Given the description of an element on the screen output the (x, y) to click on. 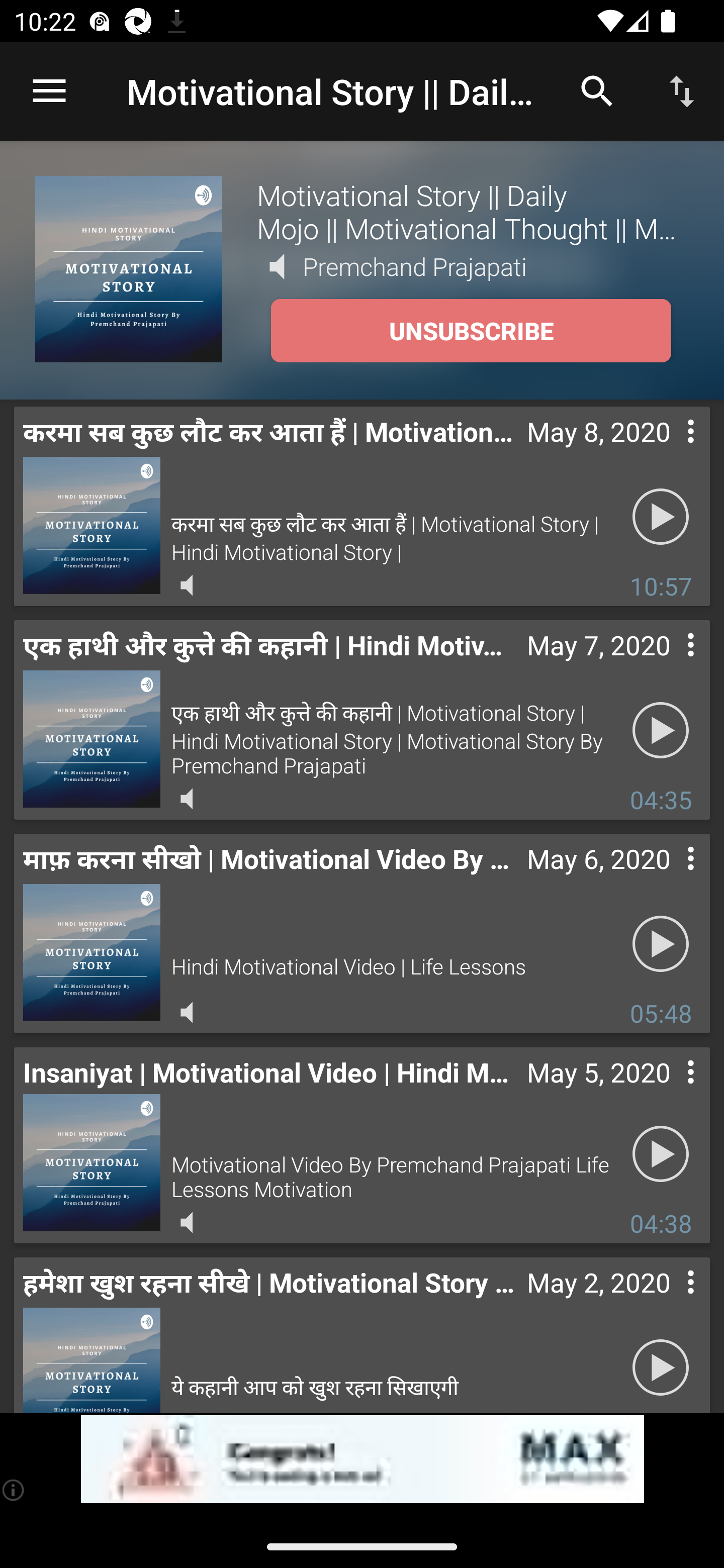
Open navigation sidebar (49, 91)
Search (597, 90)
Sort (681, 90)
UNSUBSCRIBE (470, 330)
Contextual menu (668, 451)
Play (660, 516)
Contextual menu (668, 665)
Play (660, 729)
Contextual menu (668, 878)
Play (660, 943)
Contextual menu (668, 1091)
Play (660, 1152)
Contextual menu (668, 1301)
Play (660, 1365)
app-monetization (362, 1459)
(i) (14, 1489)
